Given the description of an element on the screen output the (x, y) to click on. 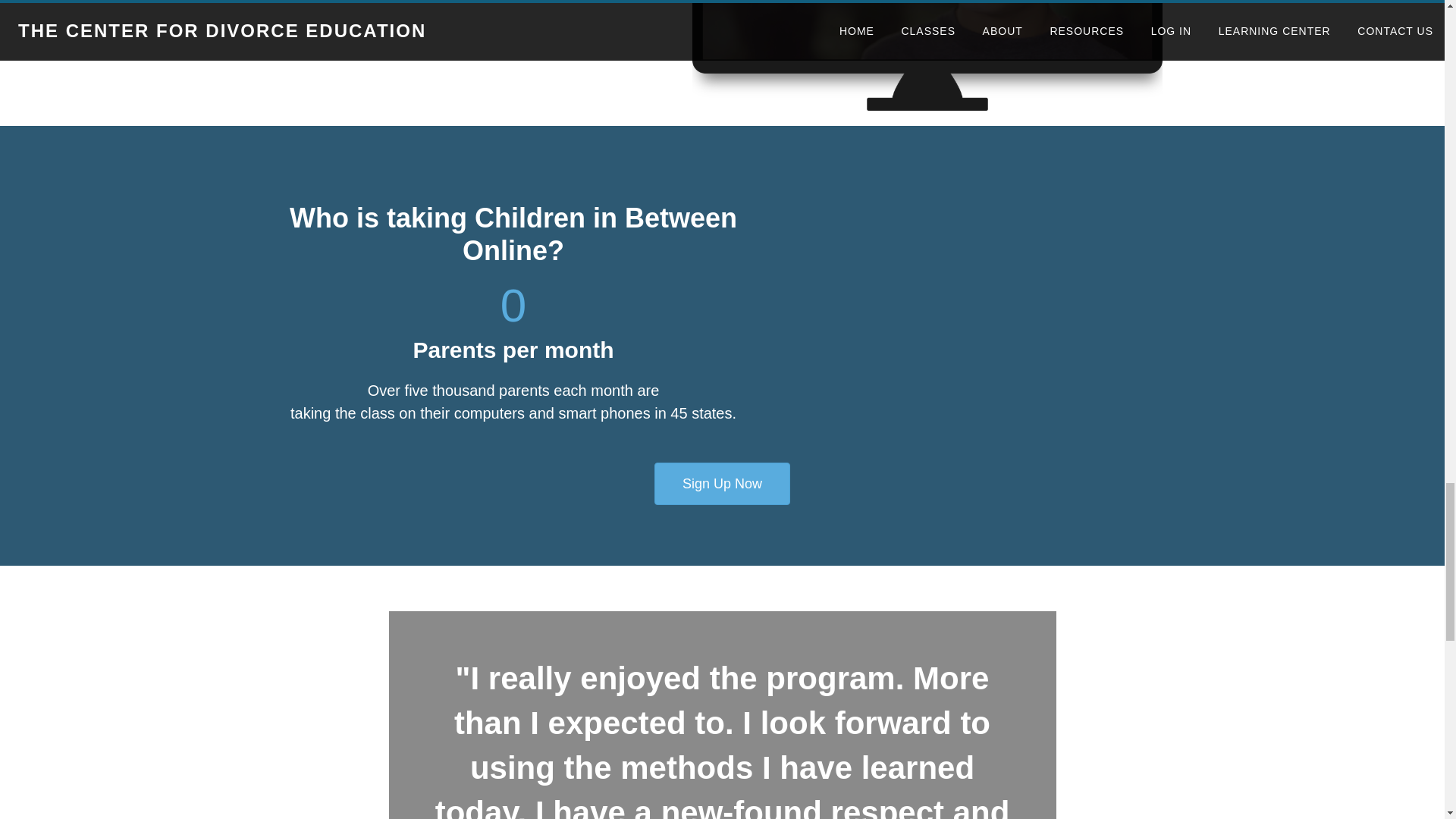
Sign Up Now (721, 483)
